Given the description of an element on the screen output the (x, y) to click on. 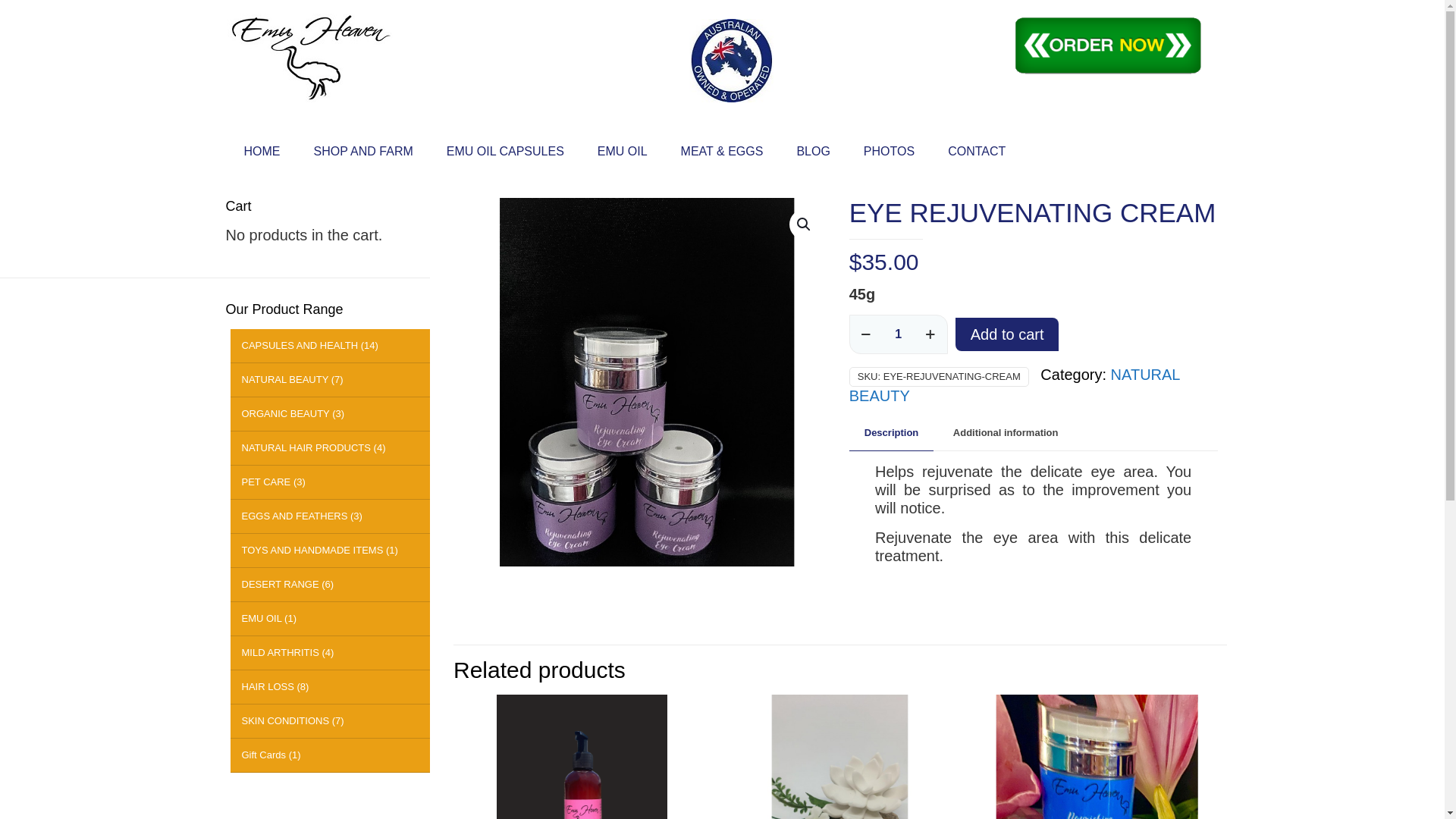
CAPSULES AND HEALTH (14) Element type: text (330, 346)
Additional information Element type: text (1005, 433)
HOME Element type: text (262, 151)
SKIN CONDITIONS (7) Element type: text (330, 721)
MEAT & EGGS Element type: text (721, 151)
NATURAL BEAUTY (7) Element type: text (330, 380)
HAIR LOSS (8) Element type: text (330, 687)
EMU OIL CAPSULES Element type: text (505, 151)
TOYS AND HANDMADE ITEMS (1) Element type: text (330, 550)
Gift Cards (1) Element type: text (330, 755)
PHOTOS Element type: text (888, 151)
ORGANIC BEAUTY (3) Element type: text (330, 414)
SHOP AND FARM Element type: text (363, 151)
EMU OIL (1) Element type: text (330, 619)
NATURAL HAIR PRODUCTS (4) Element type: text (330, 448)
NATURAL BEAUTY Element type: text (1014, 385)
Description Element type: text (891, 433)
MILD ARTHRITIS (4) Element type: text (330, 653)
Search Element type: text (40, 16)
CONTACT Element type: text (976, 151)
BLOG Element type: text (812, 151)
EGGS AND FEATHERS (3) Element type: text (330, 516)
Add to cart Element type: text (1007, 334)
EMU OIL Element type: text (622, 151)
DESERT RANGE (6) Element type: text (330, 584)
Qty Element type: hover (898, 334)
PET CARE (3) Element type: text (330, 482)
Emu Heaven Element type: hover (310, 64)
eye-cream Element type: hover (646, 381)
